Given the description of an element on the screen output the (x, y) to click on. 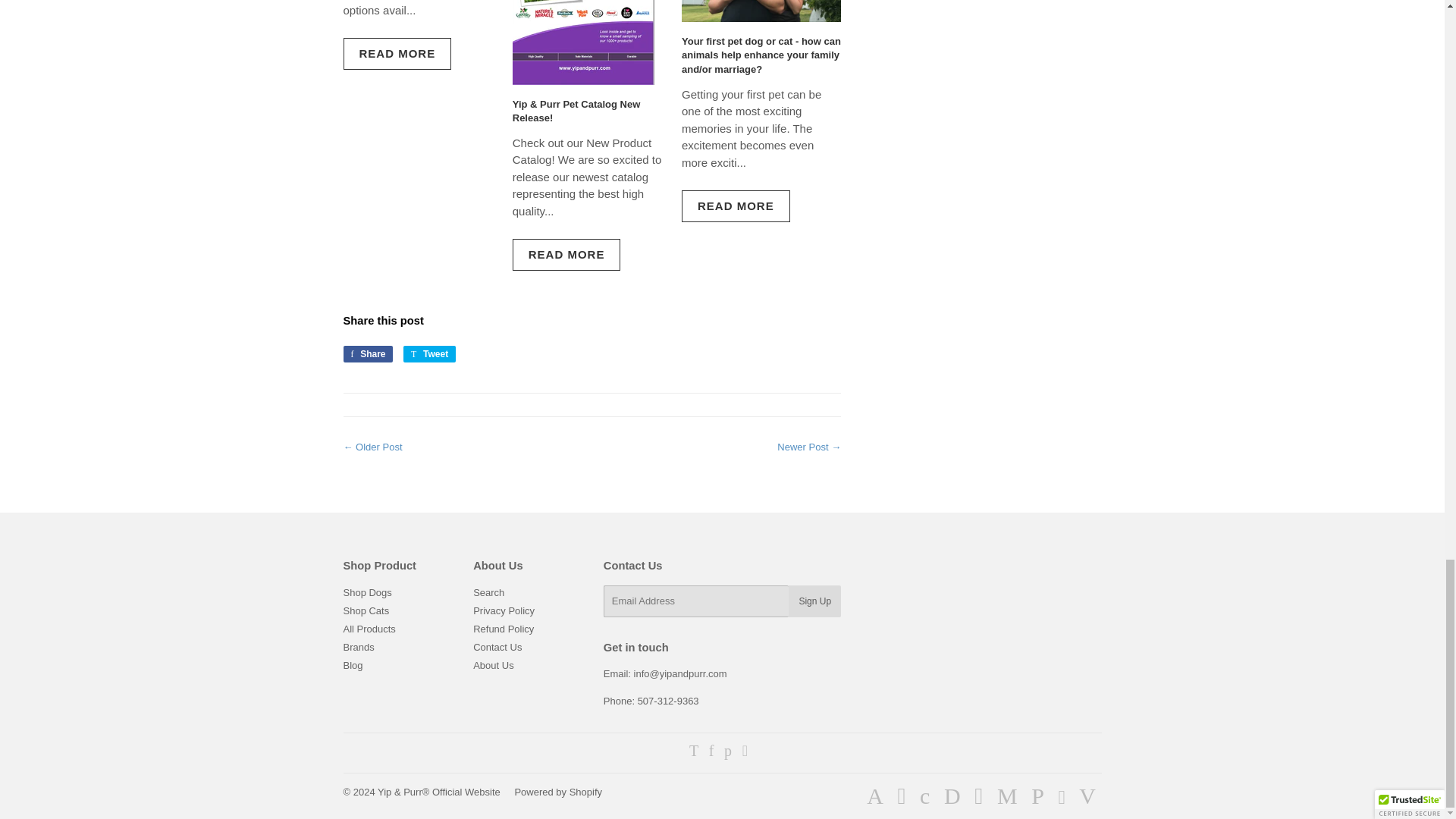
Share on Facebook (367, 353)
Tweet on Twitter (429, 353)
